Given the description of an element on the screen output the (x, y) to click on. 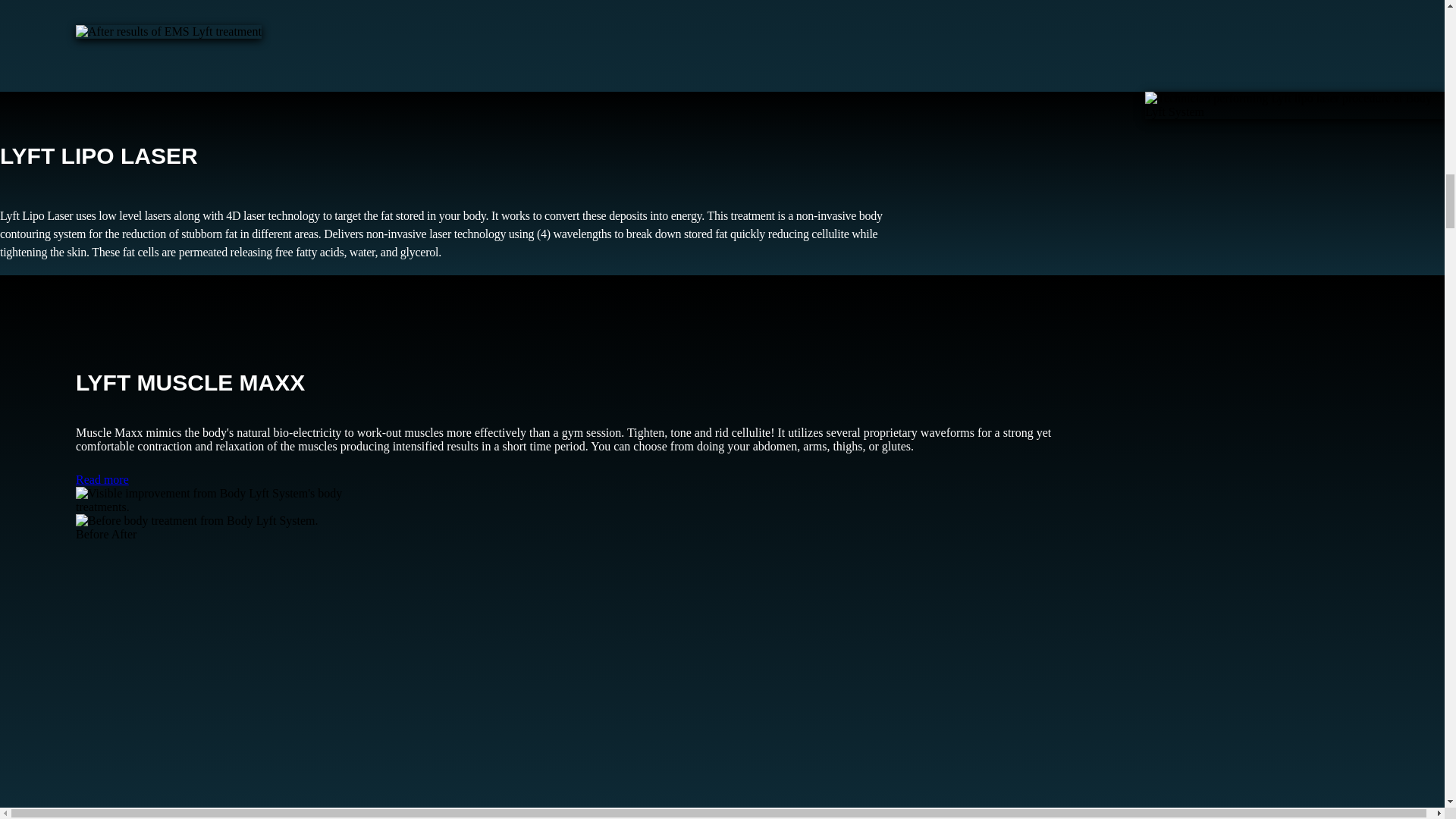
Read more (102, 479)
